Given the description of an element on the screen output the (x, y) to click on. 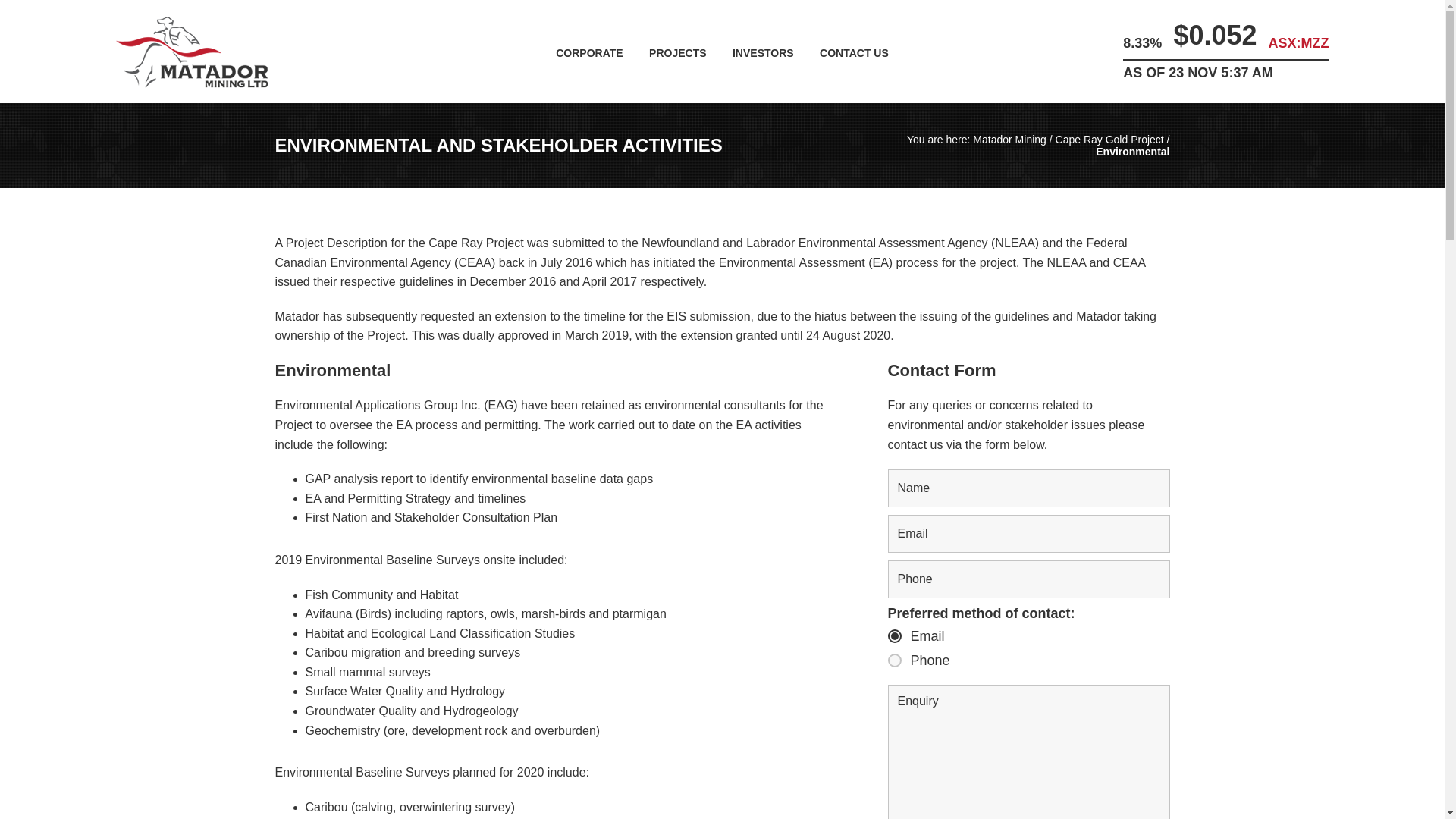
Cape Ray Gold Project Element type: text (1109, 139)
PROJECTS Element type: text (677, 43)
INVESTORS Element type: text (763, 43)
Skip to primary navigation Element type: text (0, 0)
CORPORATE Element type: text (588, 43)
Matador Mining Element type: text (1009, 139)
CONTACT US Element type: text (854, 43)
